Given the description of an element on the screen output the (x, y) to click on. 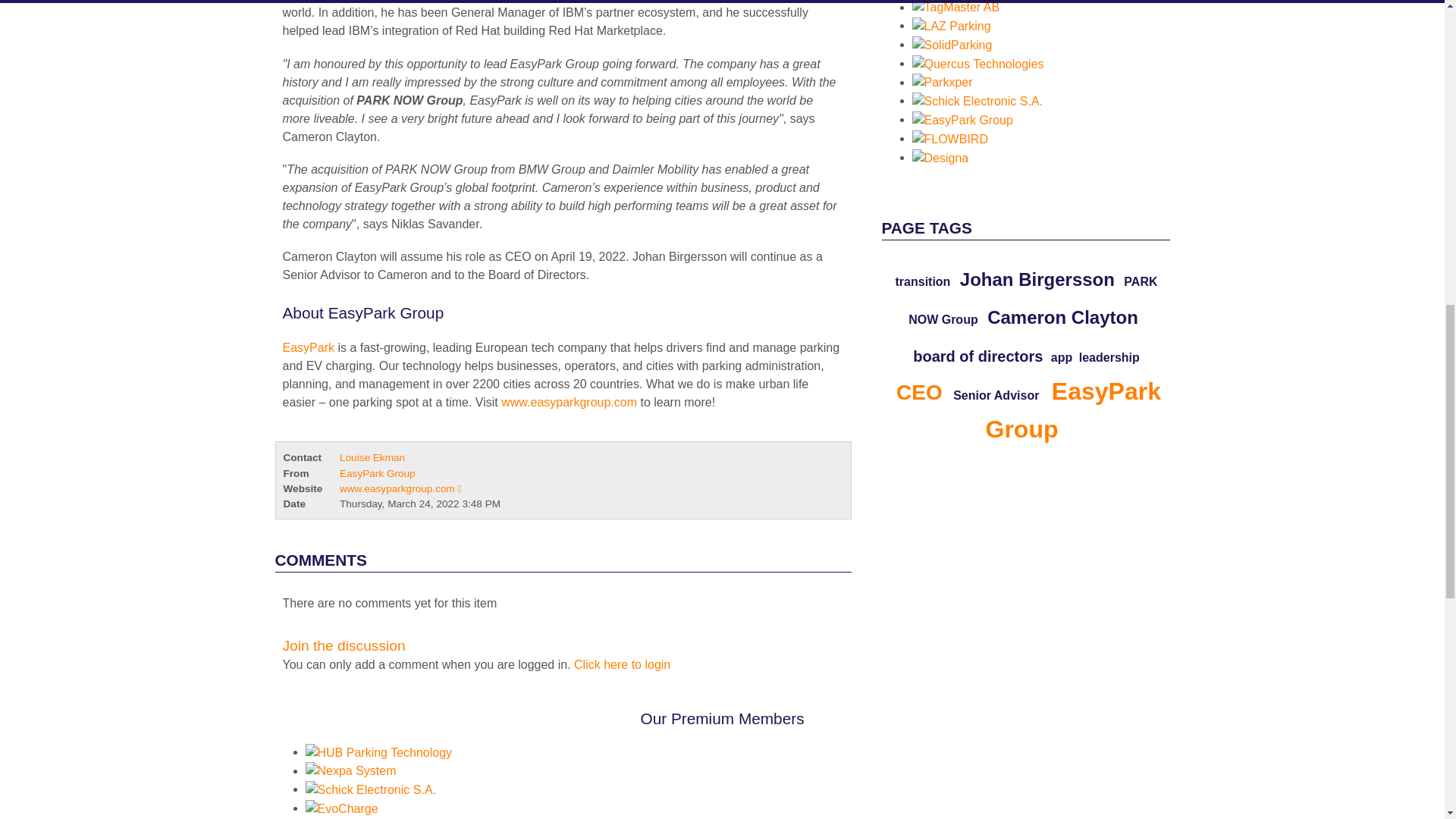
View profile of EasyPark Group (376, 473)
EasyPark (309, 347)
EasyPark  (309, 347)
View website of EasyPark Group (400, 488)
EasyPark (763, 309)
Click here to login (621, 664)
www.easyparkgroup.com (568, 401)
EasyPark (568, 401)
